Given the description of an element on the screen output the (x, y) to click on. 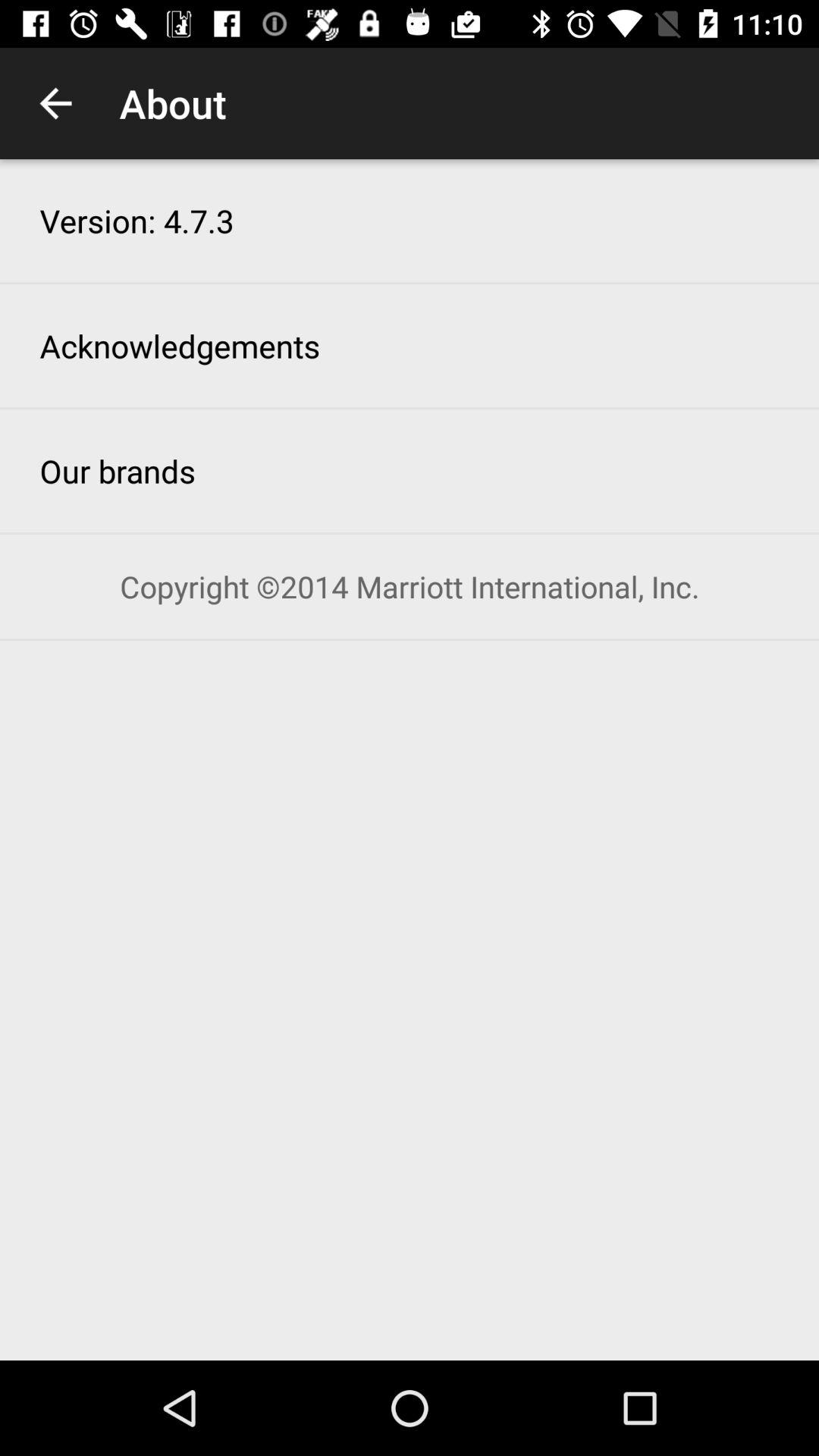
jump to version 4 7 icon (136, 220)
